Given the description of an element on the screen output the (x, y) to click on. 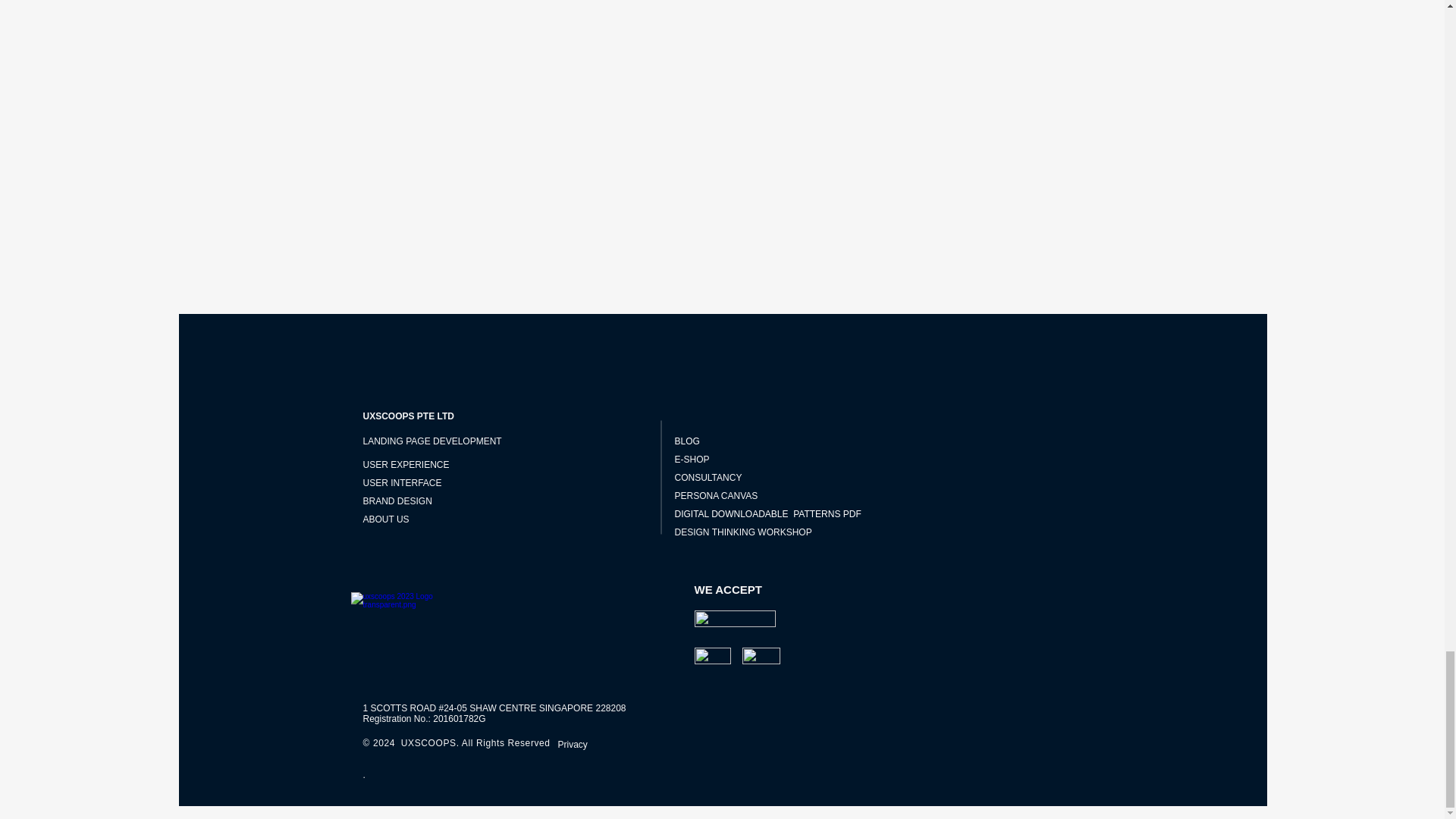
Paypal-Logo-Transparent-png-format-large-size.png (735, 618)
ABOUT US (385, 519)
Privacy (606, 744)
UXSCOOPS. All Rights Reserved (475, 742)
DIGITAL DOWNLOADABLE  PATTERNS PDF (768, 513)
BLOG (687, 440)
E-SHOP (692, 459)
